Given the description of an element on the screen output the (x, y) to click on. 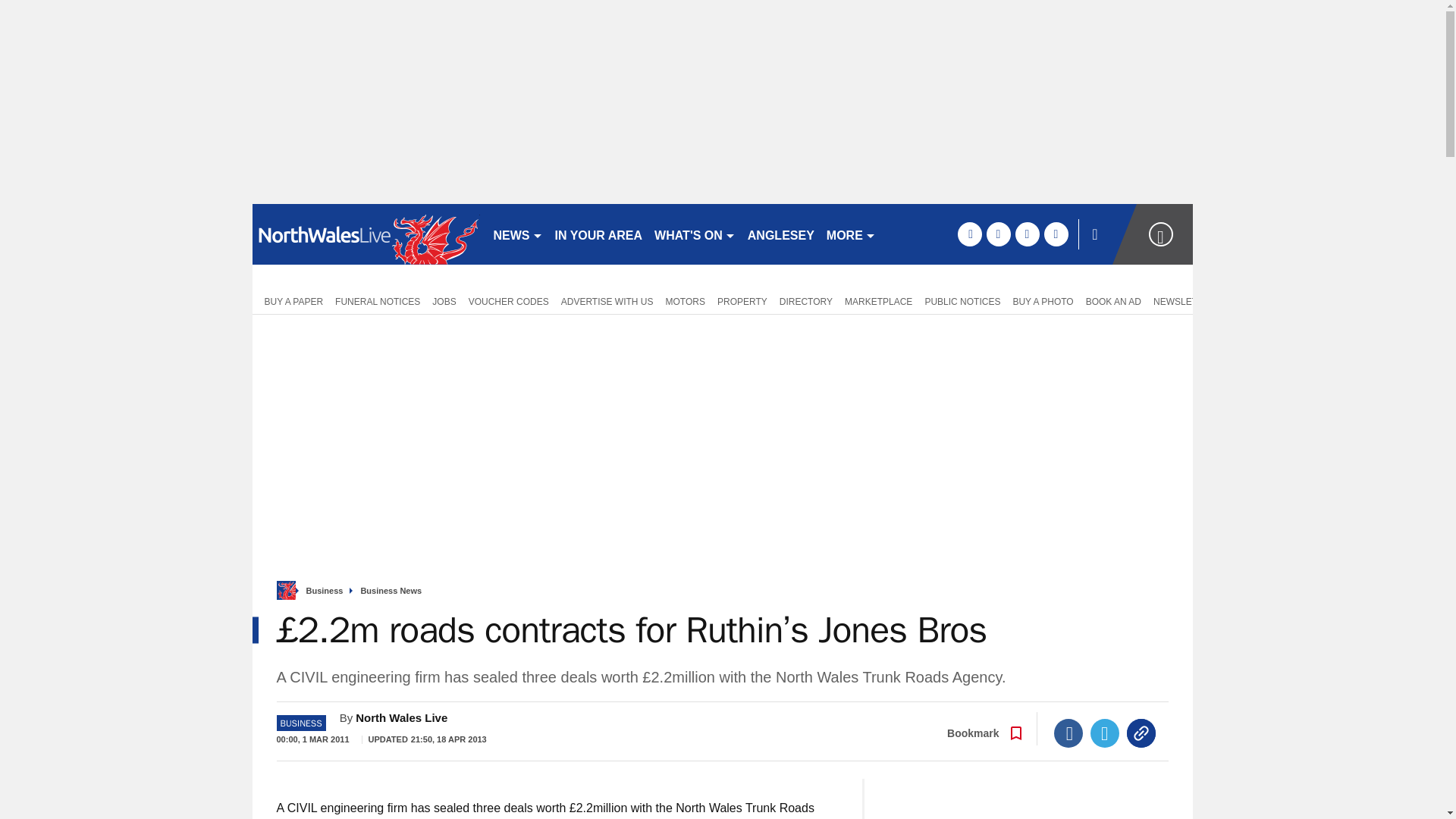
Facebook (1068, 733)
BUY A PAPER (290, 300)
facebook (968, 233)
FUNERAL NOTICES (377, 300)
Twitter (1104, 733)
JOBS (443, 300)
MOTORS (685, 300)
ANGLESEY (781, 233)
MORE (851, 233)
VOUCHER CODES (508, 300)
